Given the description of an element on the screen output the (x, y) to click on. 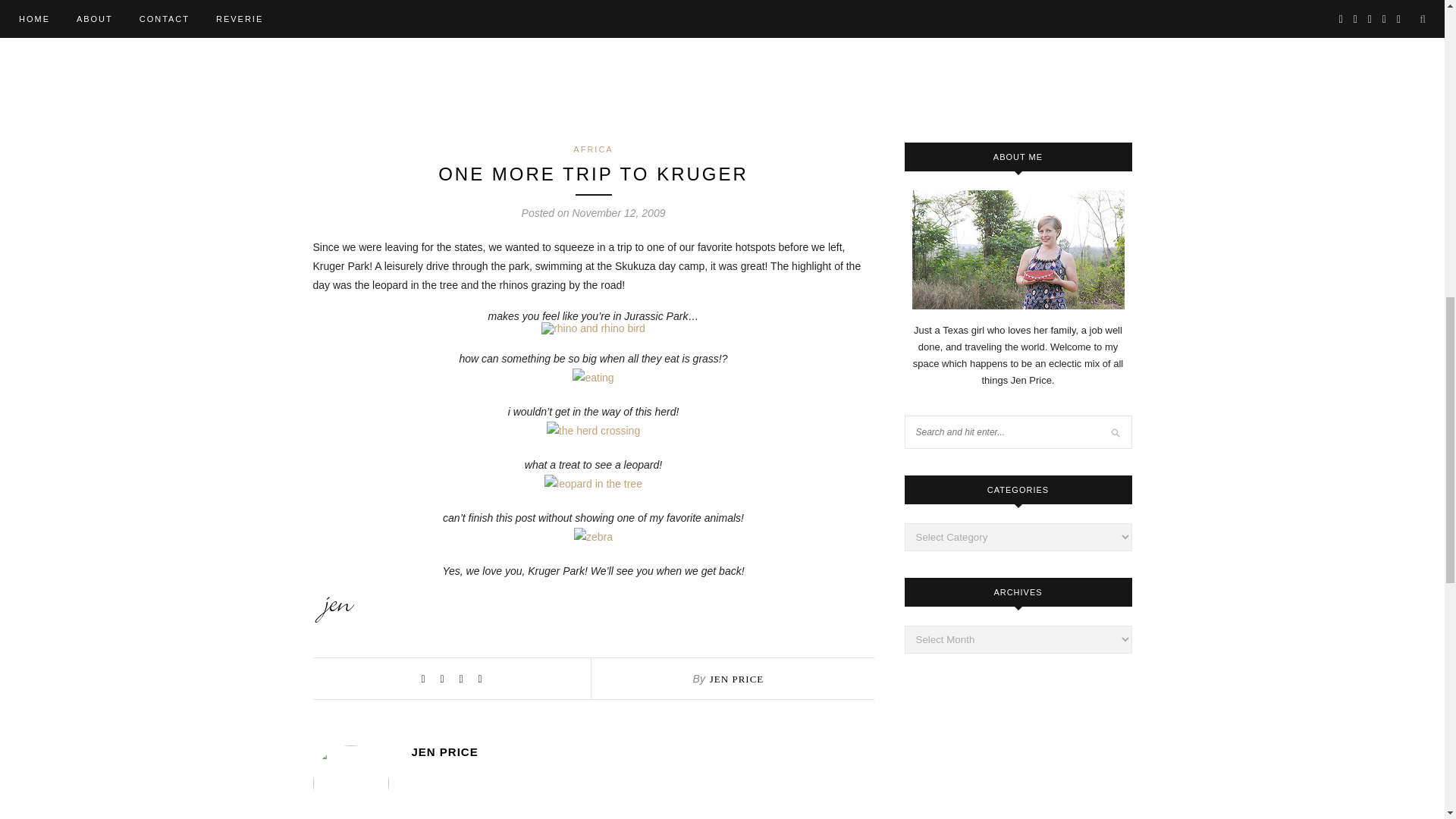
AFRICA (592, 148)
eating by i believe in love, on Flickr (592, 377)
Posts by Jen Price (641, 751)
Posts by Jen Price (736, 678)
the herd crossing by i believe in love, on Flickr (593, 430)
zebra by i believe in love, on Flickr (592, 536)
JEN PRICE (736, 678)
JEN PRICE (641, 751)
rhino and rhino bird by i believe in love, on Flickr (593, 328)
leopard in the tree by i believe in love, on Flickr (593, 483)
